Given the description of an element on the screen output the (x, y) to click on. 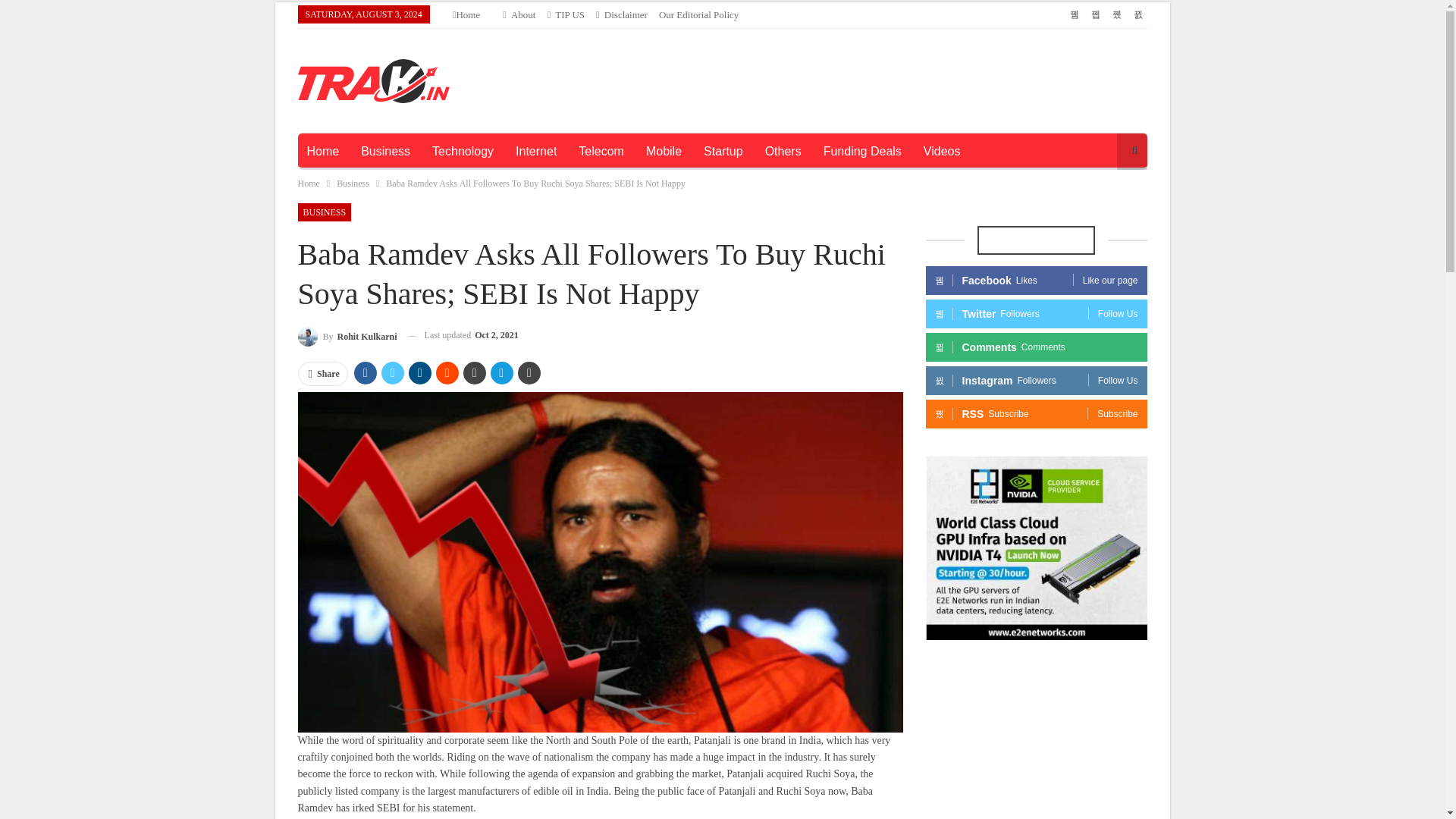
Videos (941, 151)
Mobile (663, 151)
Home (307, 183)
About (518, 14)
BUSINESS (323, 212)
Telecom (601, 151)
Get in Touch (566, 14)
Home (466, 14)
Business (385, 151)
Home (322, 151)
